Given the description of an element on the screen output the (x, y) to click on. 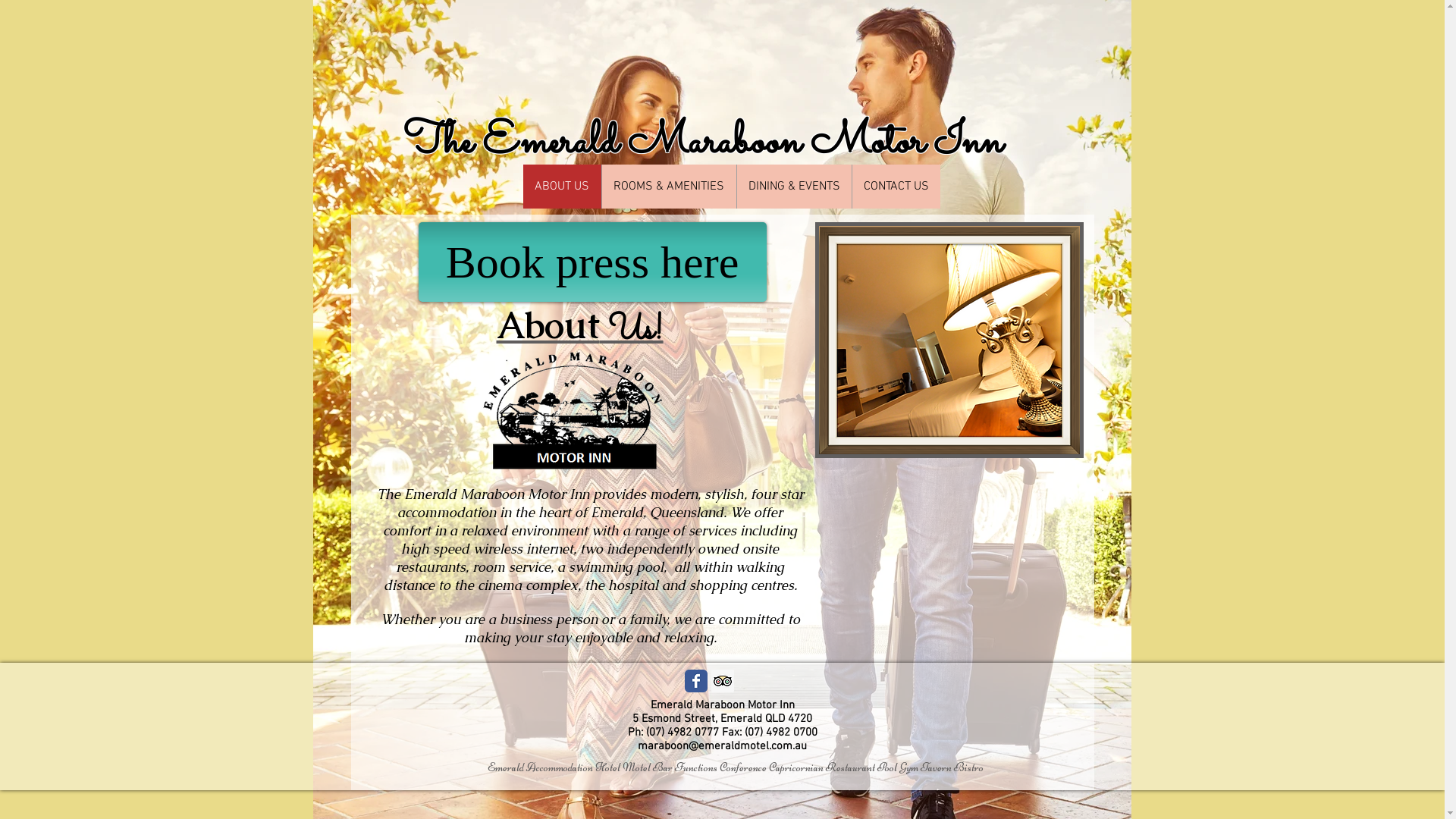
maraboon@emeraldmotel.com.au Element type: text (721, 746)
Modern Studio For 2 Element type: hover (948, 340)
DINING & EVENTS Element type: text (792, 186)
ROOMS & AMENITIES Element type: text (667, 186)
Book press here Element type: text (592, 261)
Embedded Content Element type: hover (971, 521)
ABOUT US Element type: text (562, 186)
CONTACT US Element type: text (894, 186)
